Given the description of an element on the screen output the (x, y) to click on. 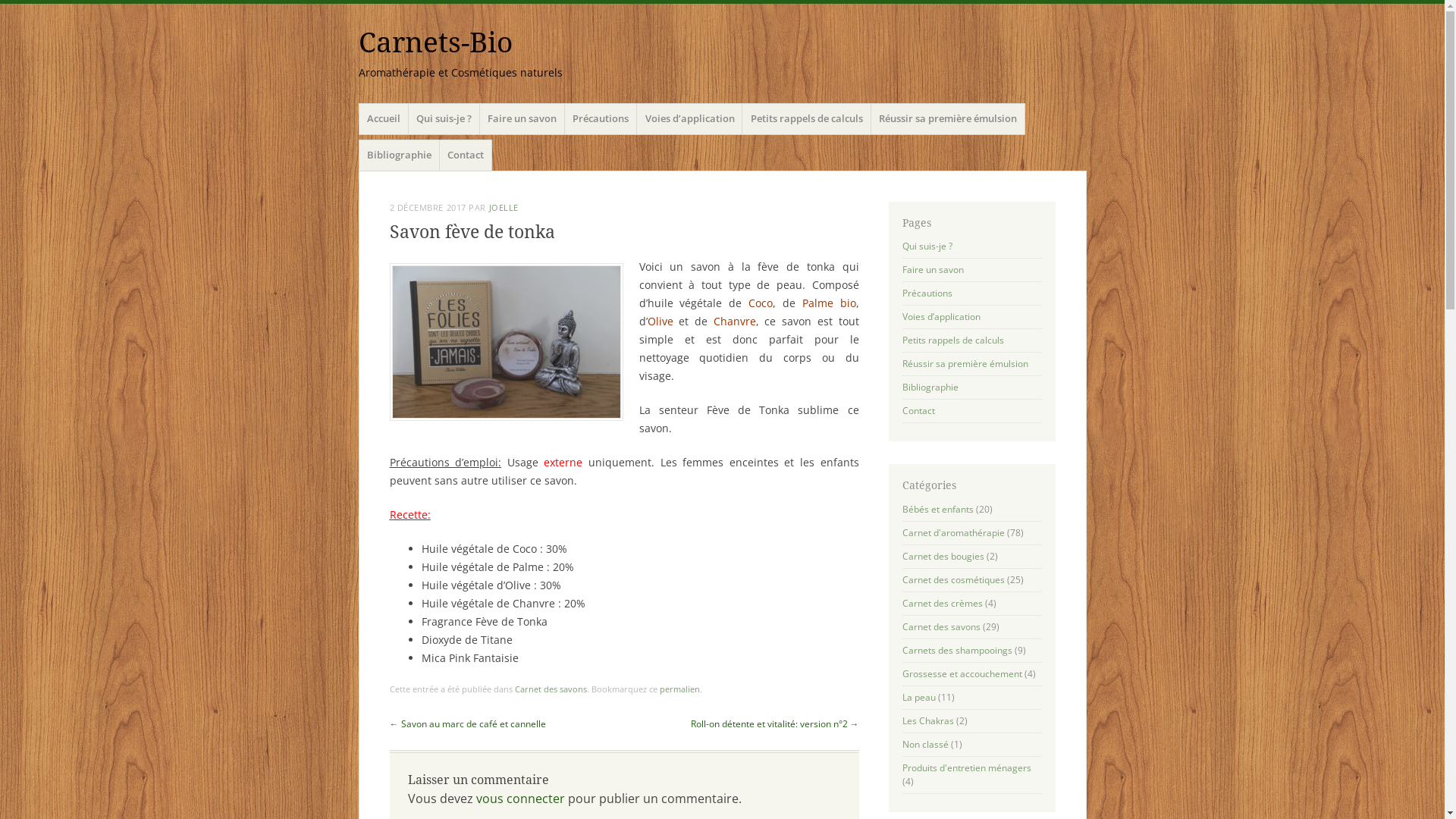
Les Chakras Element type: text (927, 720)
Recherche Element type: text (27, 8)
Contact Element type: text (465, 155)
Bibliographie Element type: text (398, 155)
Carnet des savons Element type: text (550, 688)
Qui suis-je ? Element type: text (927, 245)
JOELLE Element type: text (503, 207)
Bibliographie Element type: text (930, 386)
vous connecter Element type: text (520, 798)
Contact Element type: text (918, 410)
Carnets-Bio Element type: text (434, 42)
permalien Element type: text (679, 688)
Aller au contenu principal Element type: text (357, 133)
Carnet des bougies Element type: text (943, 555)
Grossesse et accouchement Element type: text (962, 673)
Carnet des savons Element type: text (941, 626)
La peau Element type: text (918, 696)
Petits rappels de calculs Element type: text (953, 339)
Faire un savon Element type: text (522, 118)
Carnets des shampooings Element type: text (957, 649)
Petits rappels de calculs Element type: text (806, 118)
Accueil Element type: text (382, 118)
Qui suis-je ? Element type: text (443, 118)
Faire un savon Element type: text (932, 269)
